Given the description of an element on the screen output the (x, y) to click on. 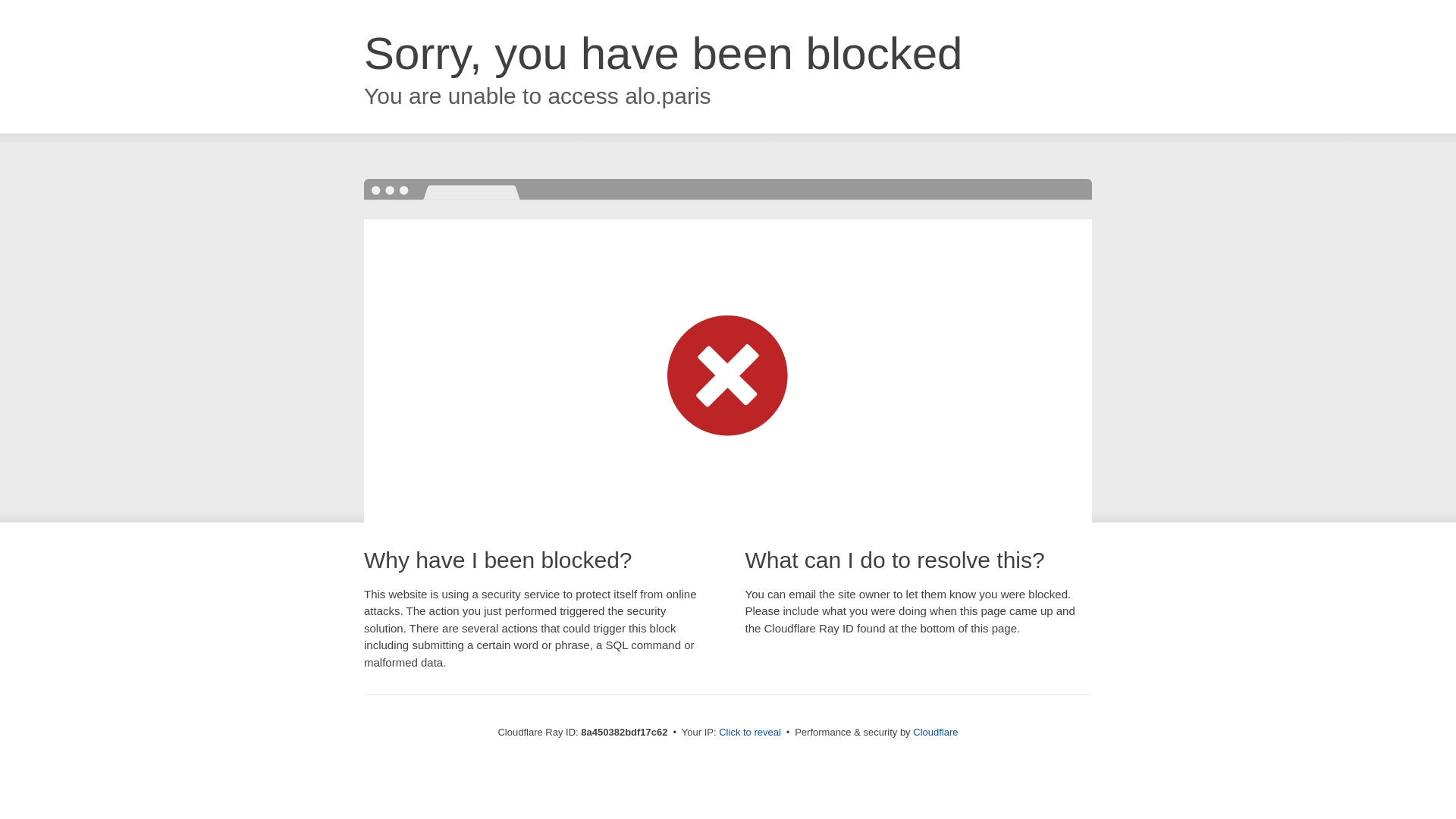
Cloudflare (935, 731)
Click to reveal (749, 732)
